Given the description of an element on the screen output the (x, y) to click on. 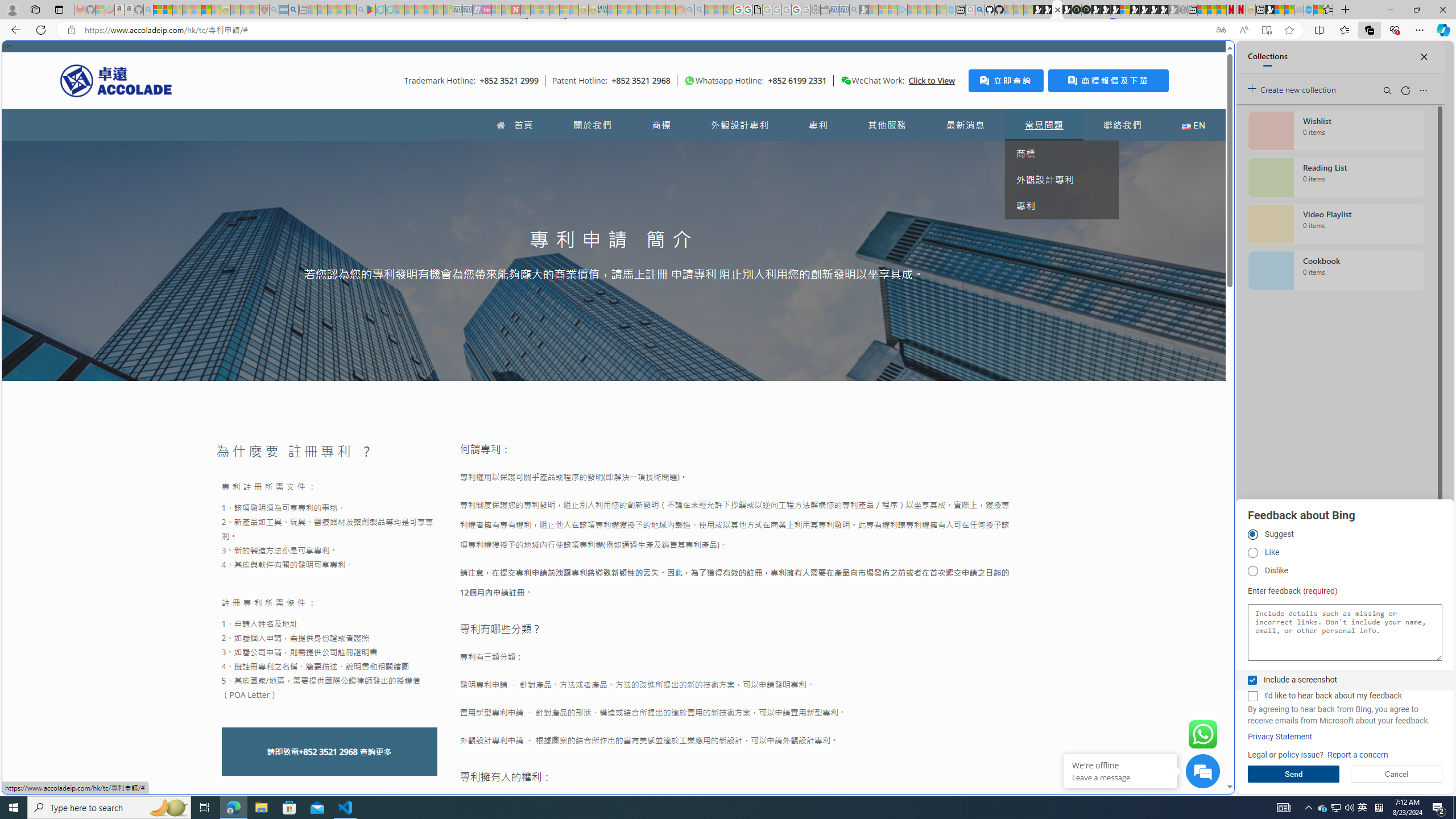
Play Cave FRVR in your browser | Games from Microsoft Start (922, 242)
Pets - MSN - Sleeping (340, 9)
EN (1193, 124)
14 Common Myths Debunked By Scientific Facts - Sleeping (534, 9)
Like (1252, 552)
Class: desktop (845, 80)
I'd like to hear back about my feedback (1252, 696)
